Given the description of an element on the screen output the (x, y) to click on. 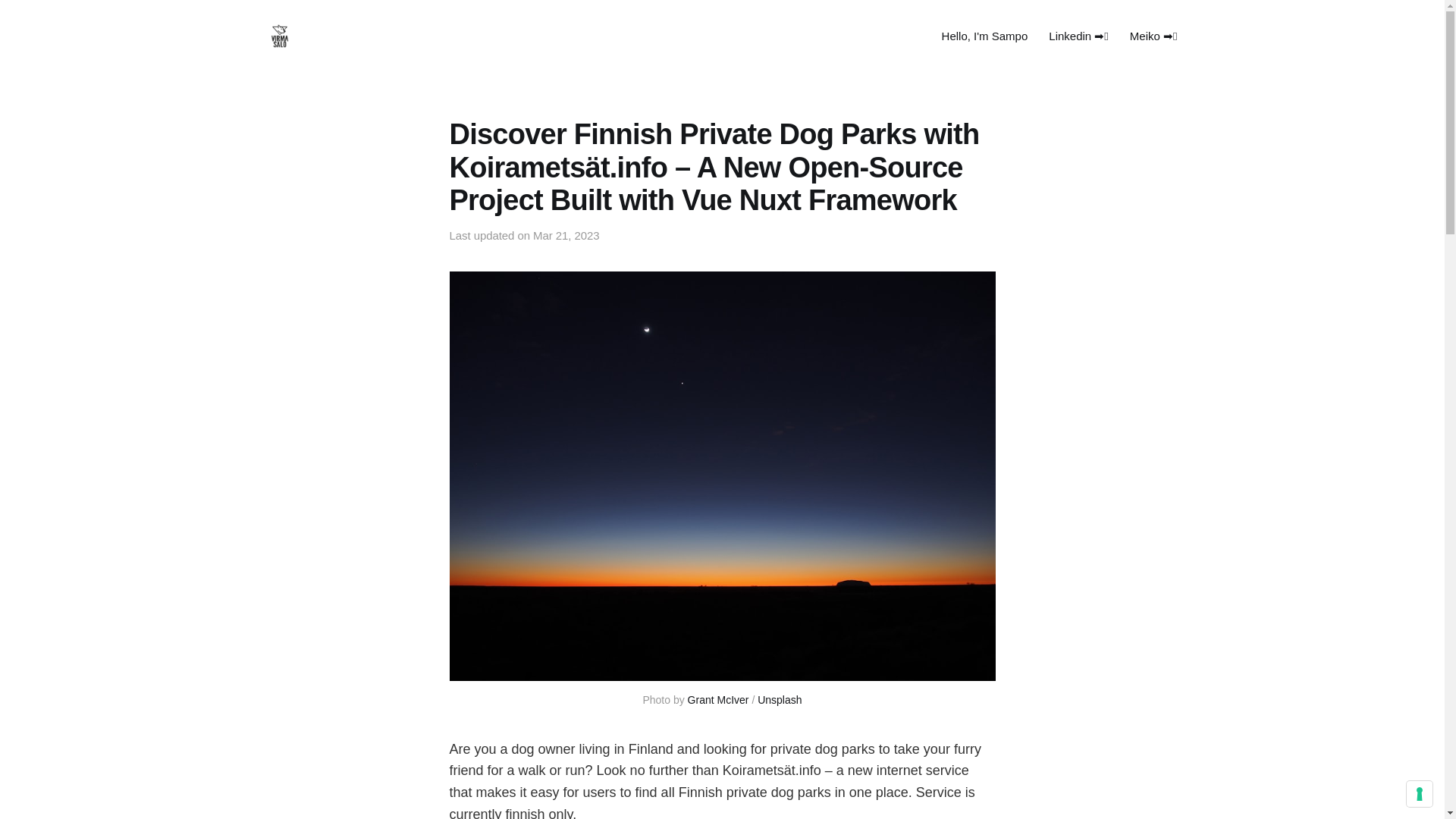
Unsplash (779, 699)
Your consent preferences for tracking technologies (1419, 793)
Grant McIver (718, 699)
Hello, I'm Sampo (984, 35)
